Given the description of an element on the screen output the (x, y) to click on. 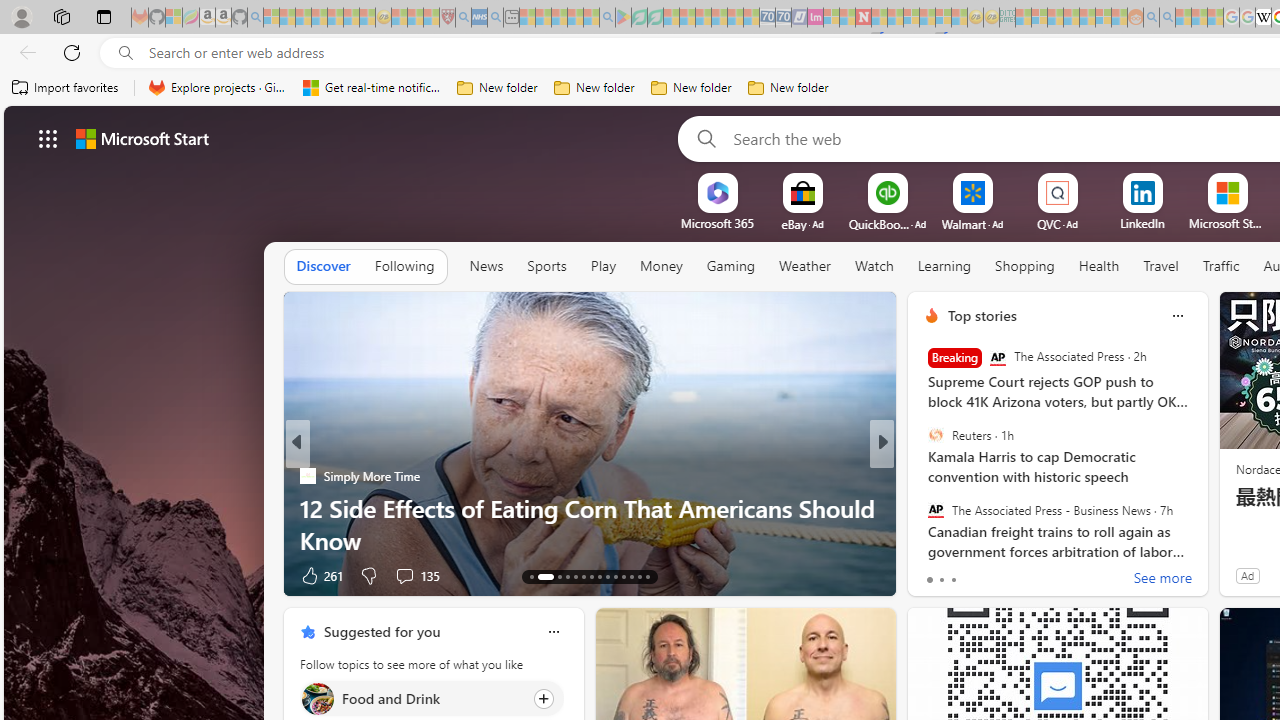
Microsoft Start - Sleeping (1183, 17)
New tab - Sleeping (511, 17)
View comments 84 Comment (1029, 574)
Suggested for you (381, 631)
View comments 1 Comment (1014, 575)
New folder (788, 88)
Terms of Use Agreement - Sleeping (639, 17)
View comments 6 Comment (1014, 575)
View comments 2 Comment (1014, 575)
AutomationID: tab-13 (531, 576)
